Given the description of an element on the screen output the (x, y) to click on. 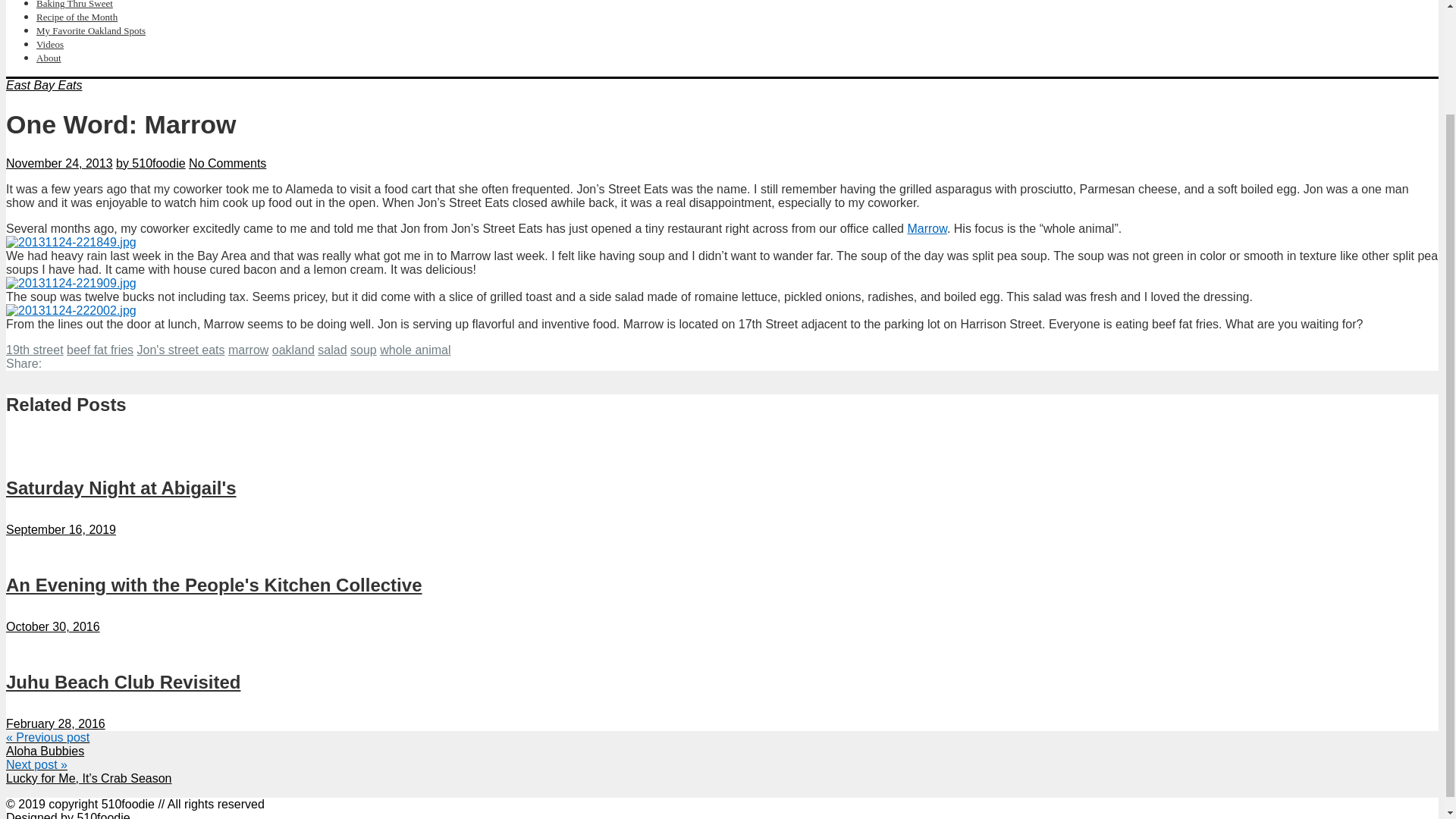
Saturday Night at Abigail's (120, 487)
Videos (50, 43)
by 510foodie (151, 163)
Permanent (120, 487)
An Evening with the People's Kitchen Collective (213, 584)
November 24, 2013 (59, 163)
Permanent (213, 584)
marrow (247, 349)
About (48, 57)
salad (331, 349)
Permanent (122, 681)
19th street (34, 349)
September 16, 2019 (60, 529)
East Bay Eats (43, 84)
beef fat fries (99, 349)
